Given the description of an element on the screen output the (x, y) to click on. 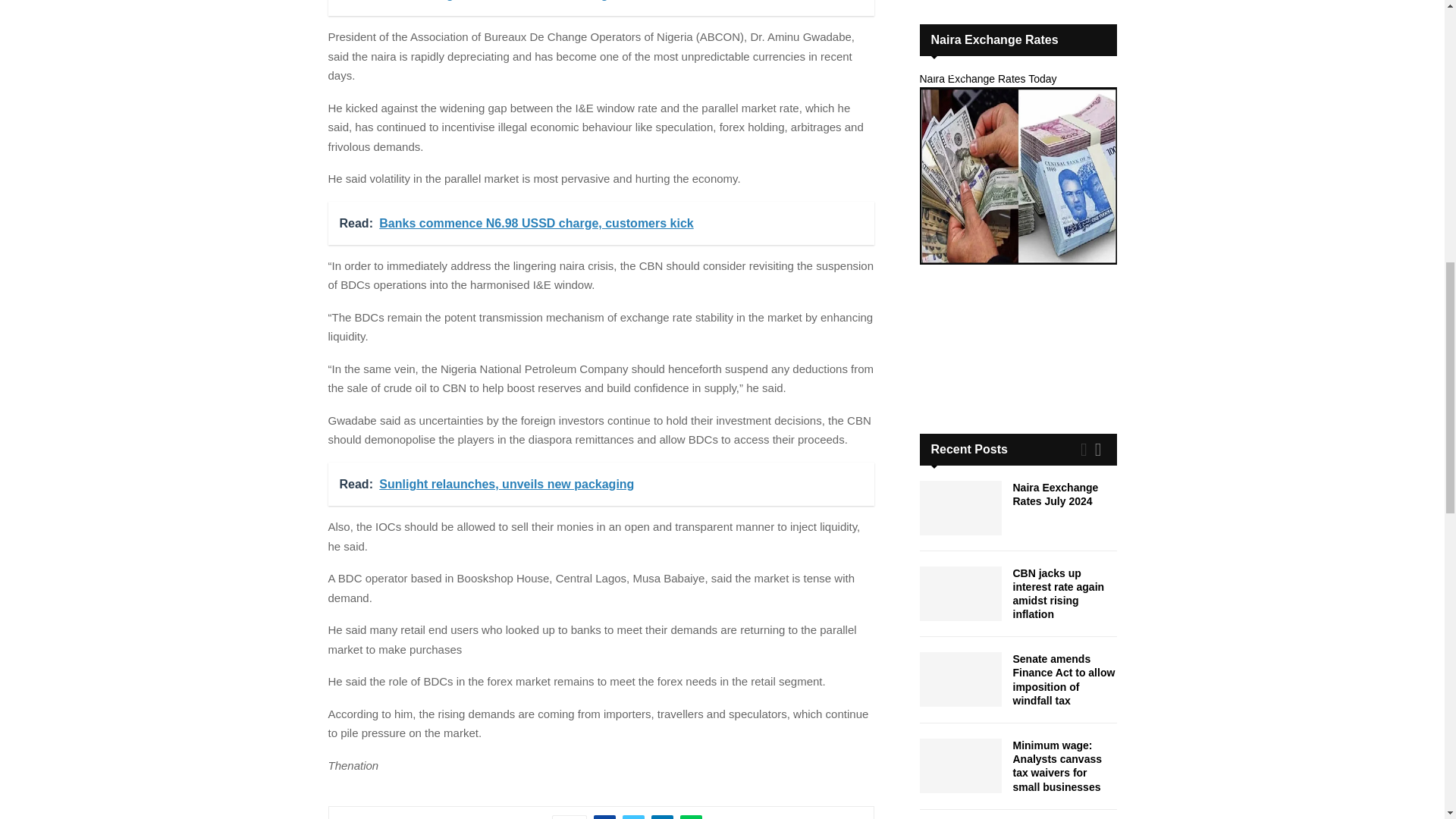
Like (568, 816)
